Given the description of an element on the screen output the (x, y) to click on. 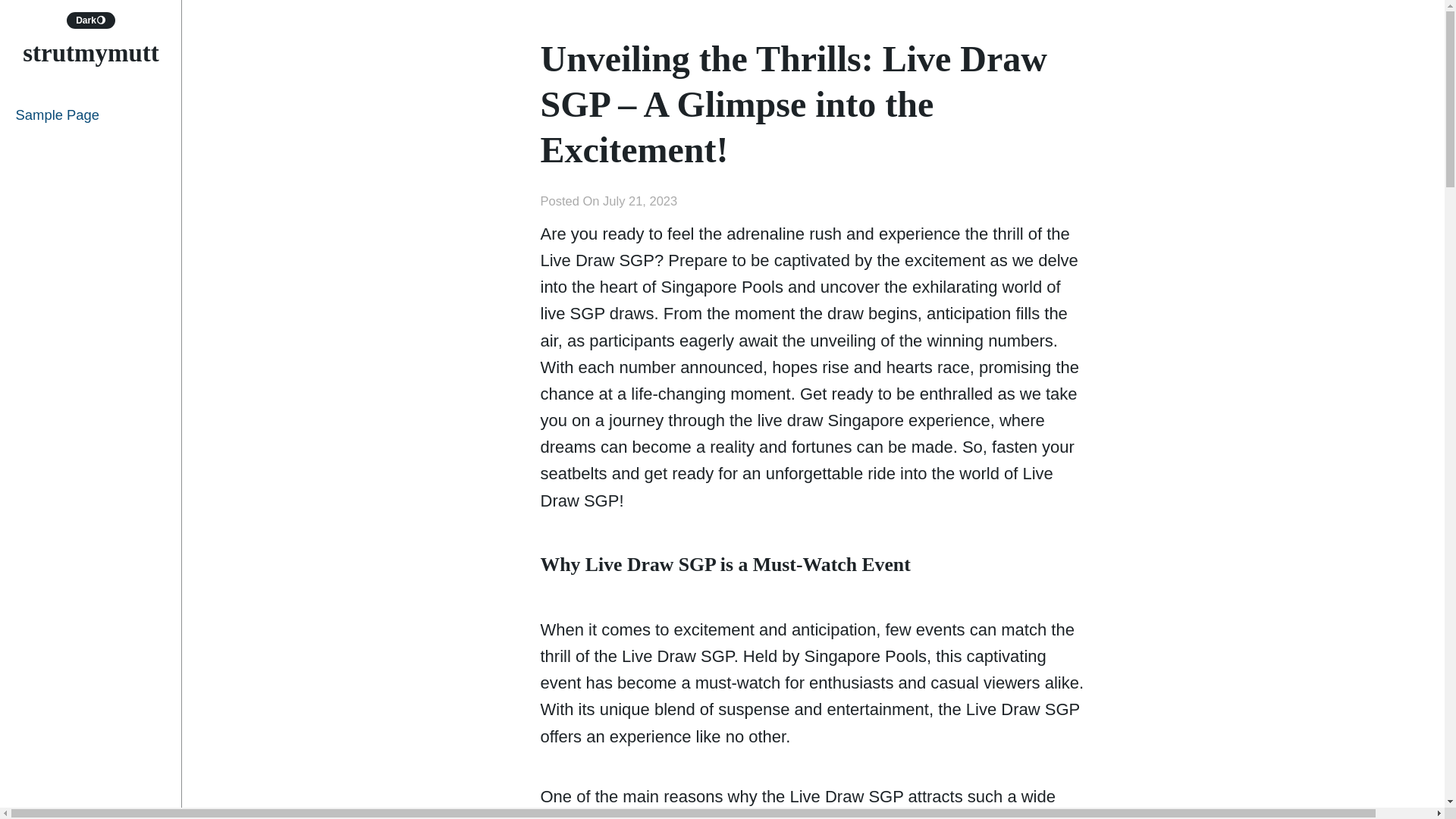
Sample Page (90, 114)
strutmymutt (90, 52)
